Given the description of an element on the screen output the (x, y) to click on. 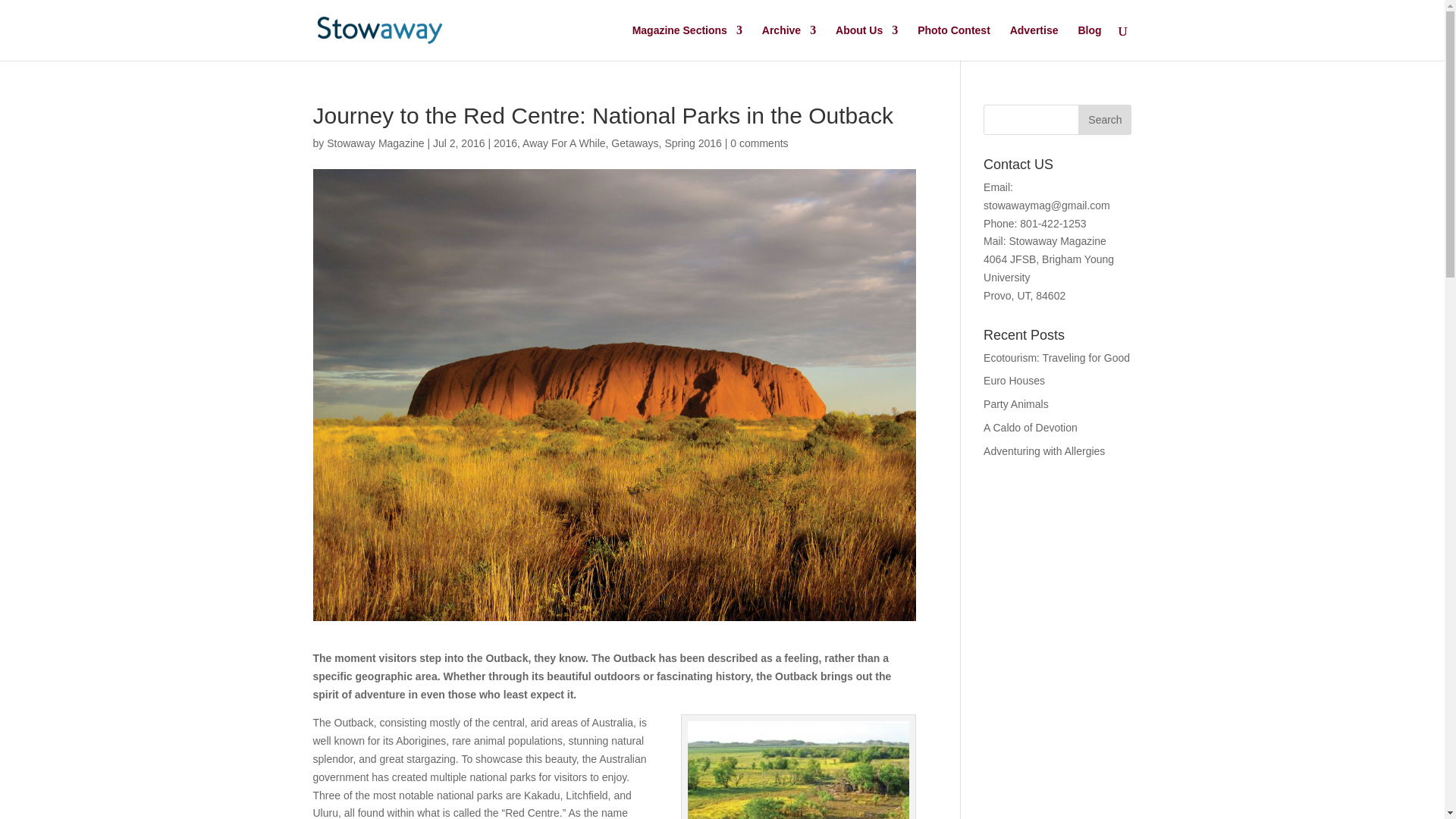
Magazine Sections (686, 42)
Search (1104, 119)
About Us (866, 42)
Posts by Stowaway Magazine (374, 143)
Archive (788, 42)
